Given the description of an element on the screen output the (x, y) to click on. 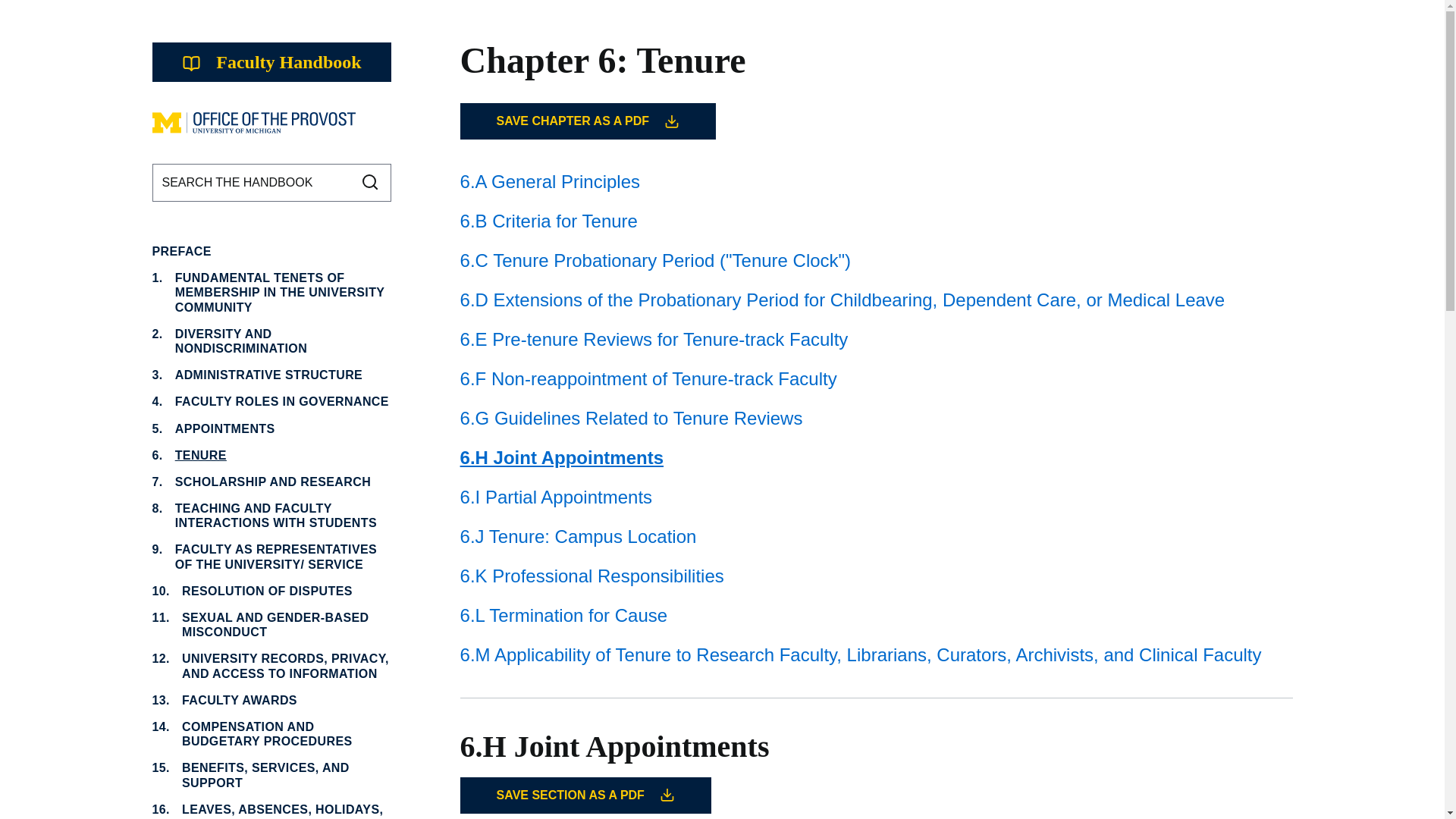
TEACHING AND FACULTY INTERACTIONS WITH STUDENTS (282, 515)
DIVERSITY AND NONDISCRIMINATION (282, 340)
TENURE (200, 454)
SCHOLARSHIP AND RESEARCH (272, 481)
FACULTY ROLES IN GOVERNANCE (281, 400)
ADMINISTRATIVE STRUCTURE (268, 374)
Faculty Handbook (271, 61)
PREFACE (181, 251)
APPOINTMENTS (224, 428)
FUNDAMENTAL TENETS OF MEMBERSHIP IN THE UNIVERSITY COMMUNITY (282, 292)
